Given the description of an element on the screen output the (x, y) to click on. 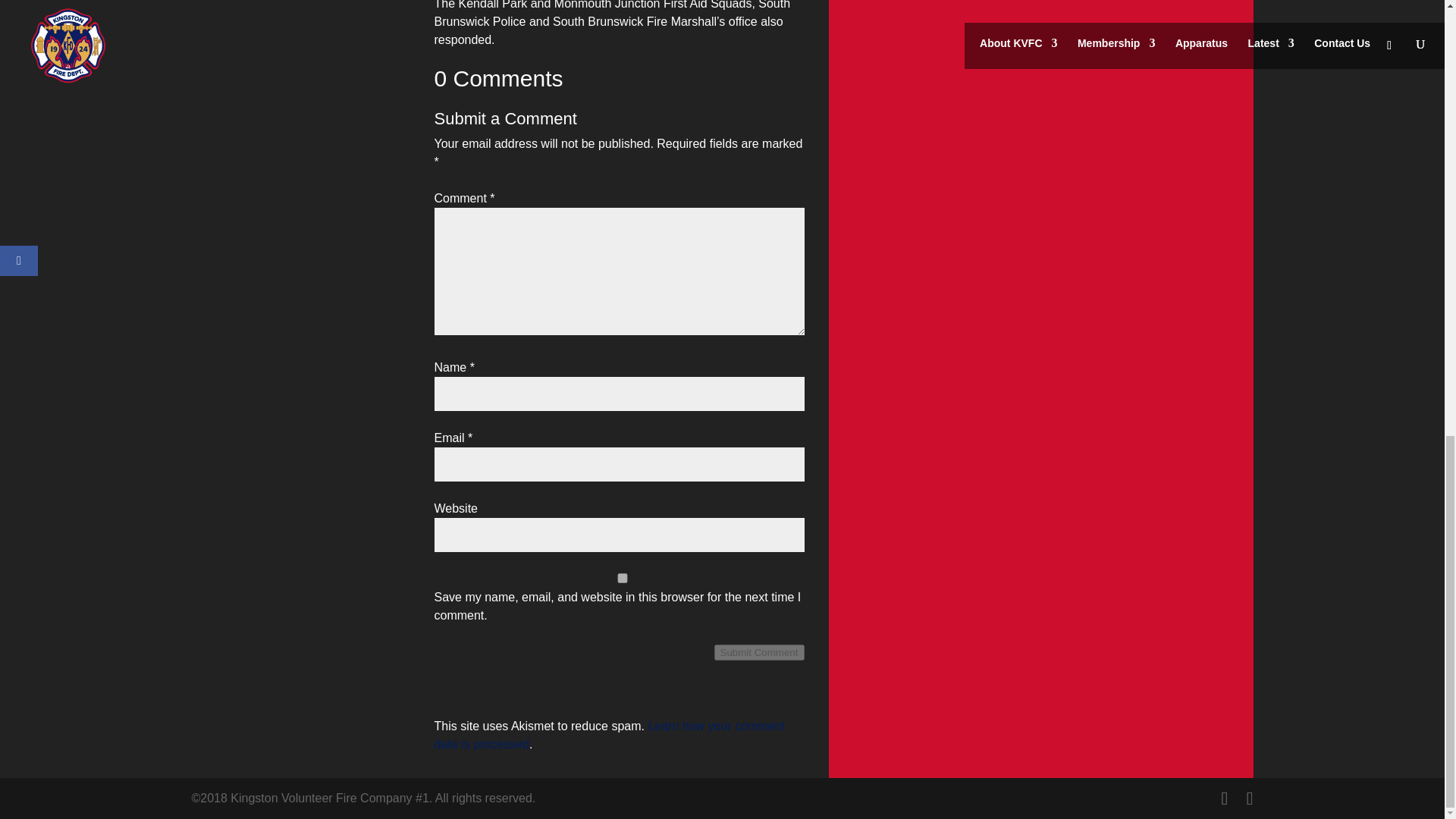
yes (621, 578)
Submit Comment (759, 652)
Learn how your comment data is processed (608, 735)
